Given the description of an element on the screen output the (x, y) to click on. 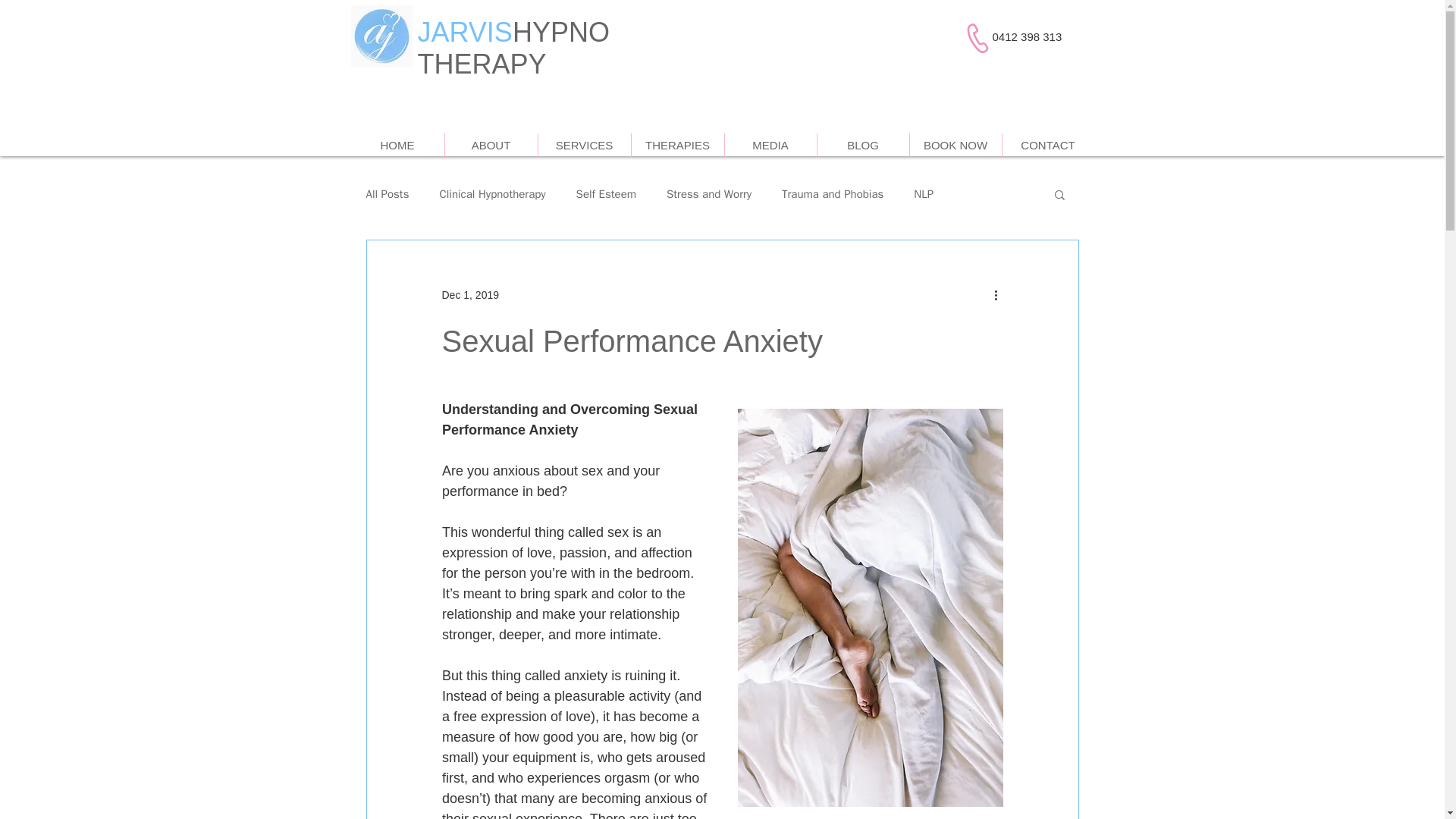
Dec 1, 2019 (470, 294)
SERVICES (584, 145)
BOOK NOW (955, 145)
Trauma and Phobias (832, 193)
Stress and Worry (708, 193)
ABOUT (490, 145)
MEDIA (770, 145)
THERAPIES (676, 145)
BLOG (862, 145)
Self Esteem (606, 193)
